Given the description of an element on the screen output the (x, y) to click on. 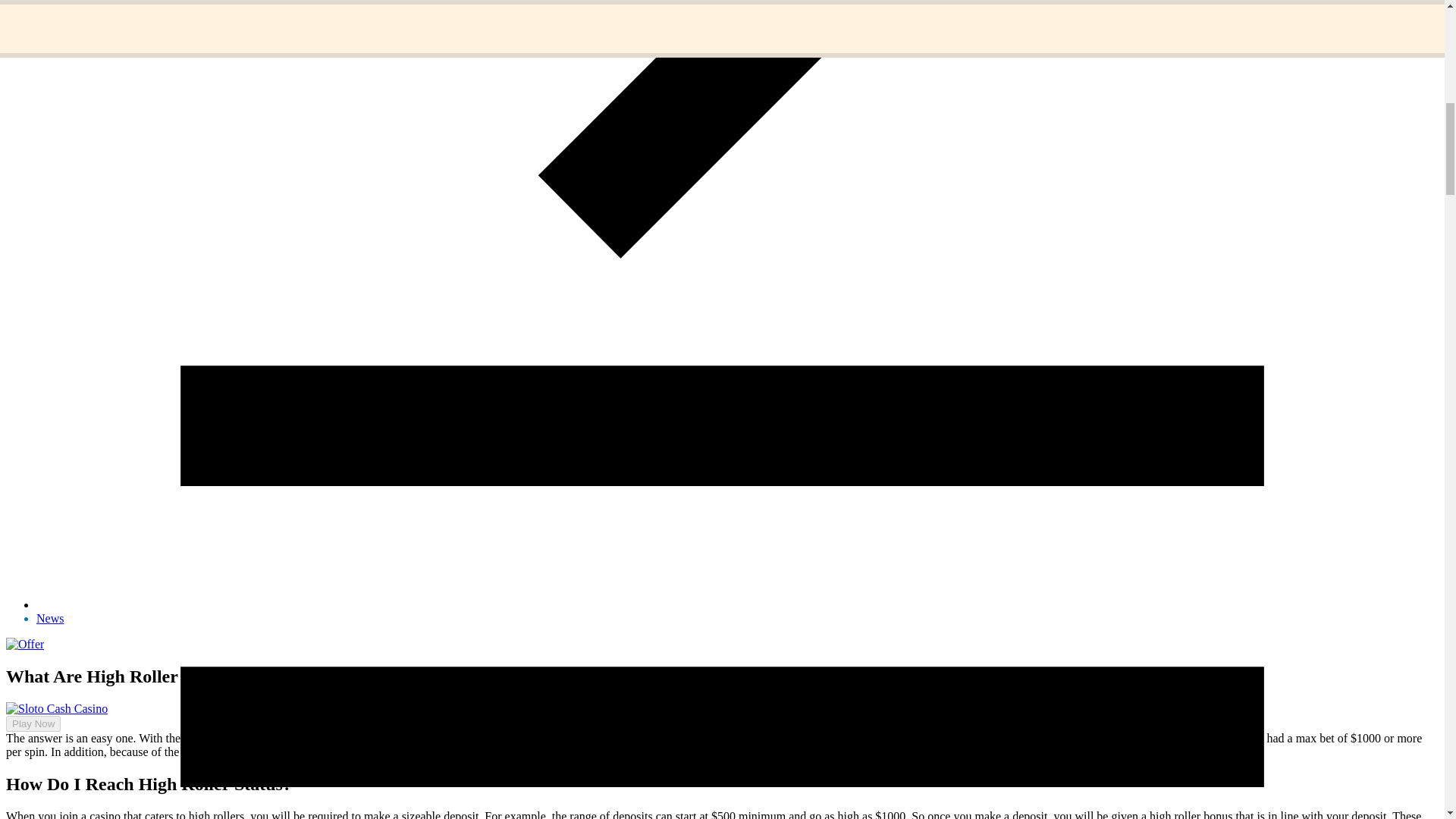
Play Now (27, 750)
Play Now (33, 723)
News (50, 617)
